Given the description of an element on the screen output the (x, y) to click on. 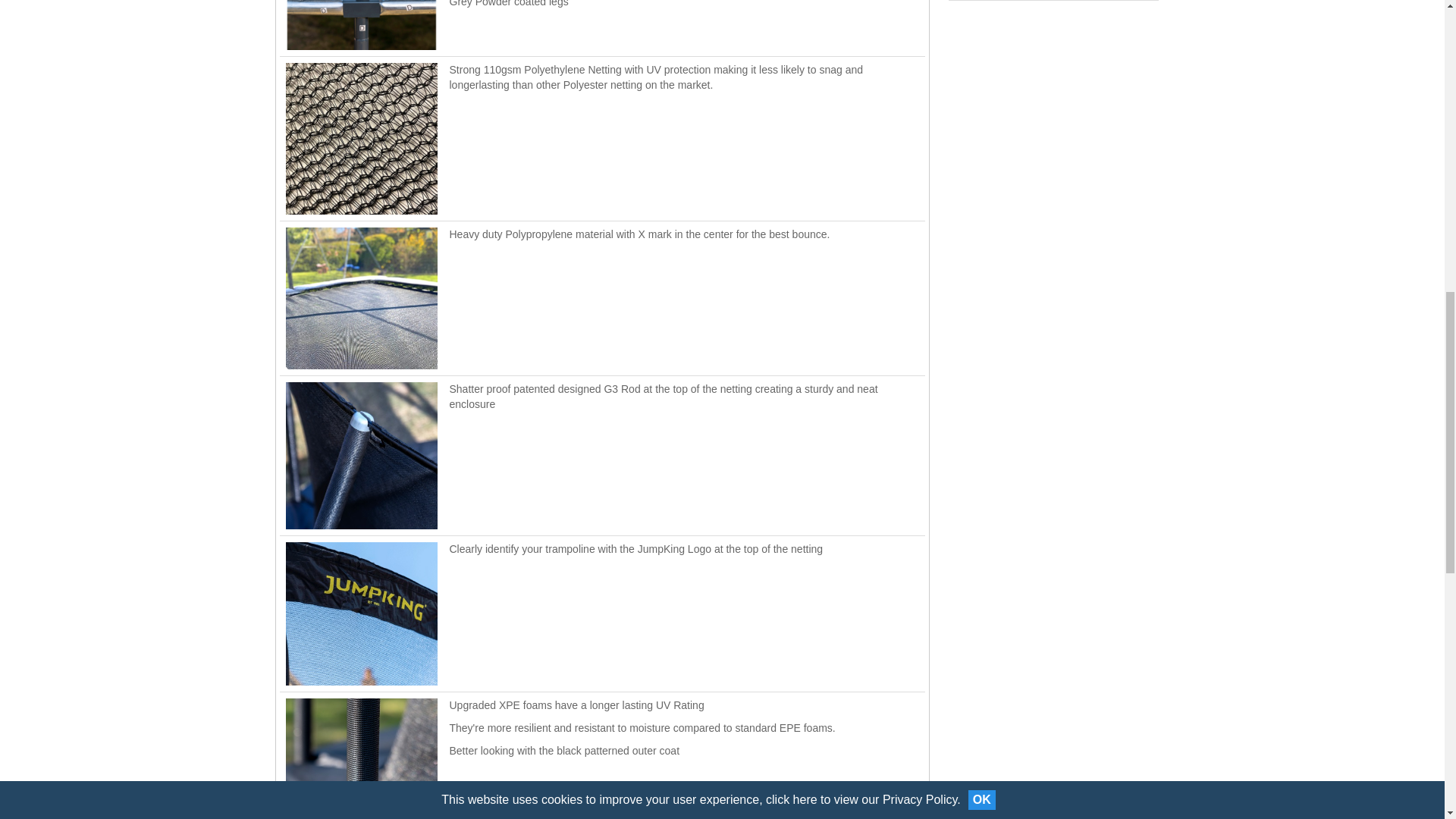
Jump King Trampoline Frame weld close up (360, 24)
Jump King Trampoline Frame weld close up (360, 138)
